Given the description of an element on the screen output the (x, y) to click on. 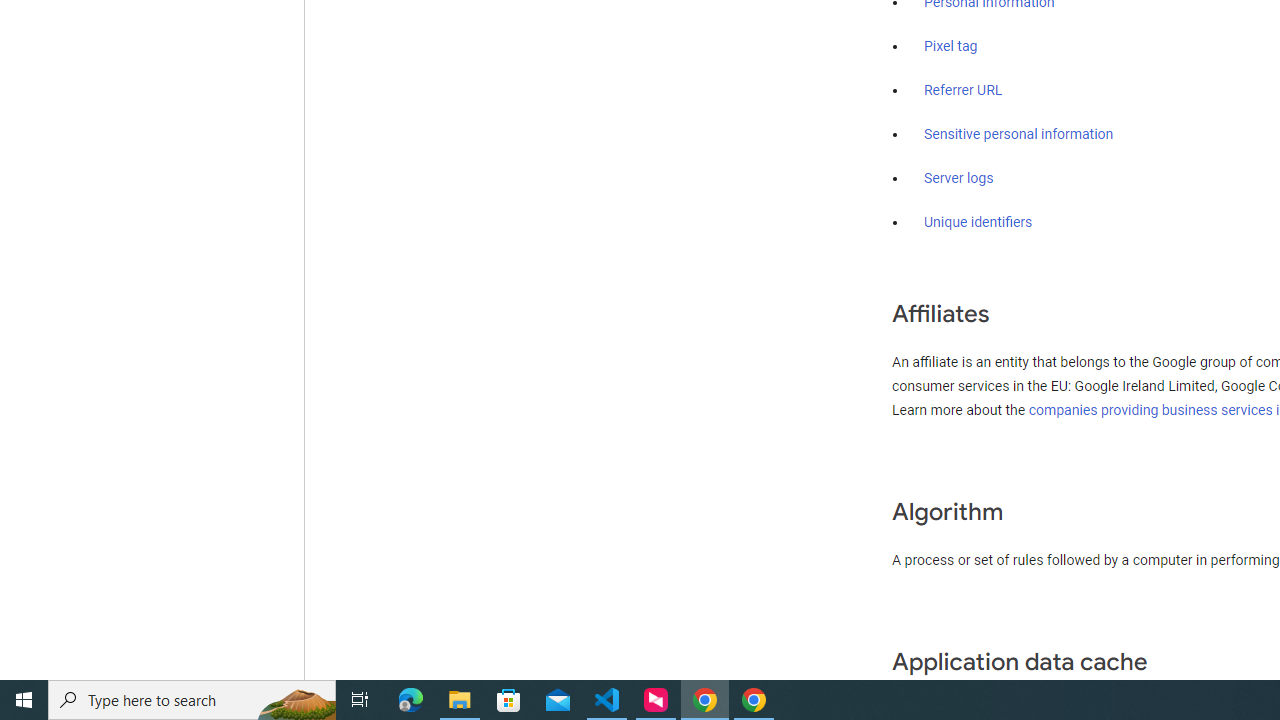
Referrer URL (963, 91)
Pixel tag (950, 47)
Server logs (959, 178)
Unique identifiers (978, 222)
Sensitive personal information (1018, 134)
